Given the description of an element on the screen output the (x, y) to click on. 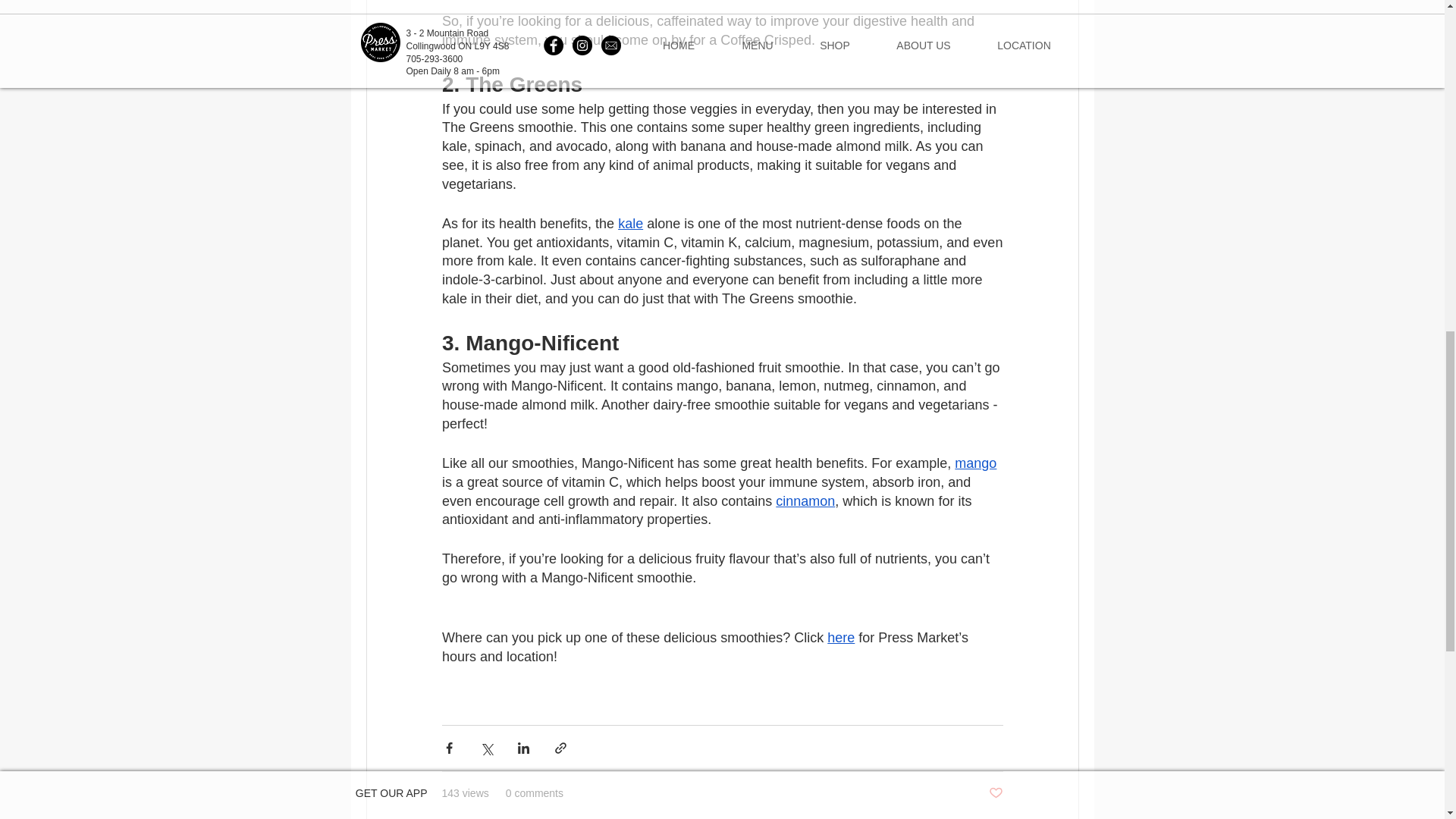
mango (975, 462)
Post not marked as liked (995, 793)
cinnamon (805, 500)
kale (630, 223)
here (840, 637)
